Given the description of an element on the screen output the (x, y) to click on. 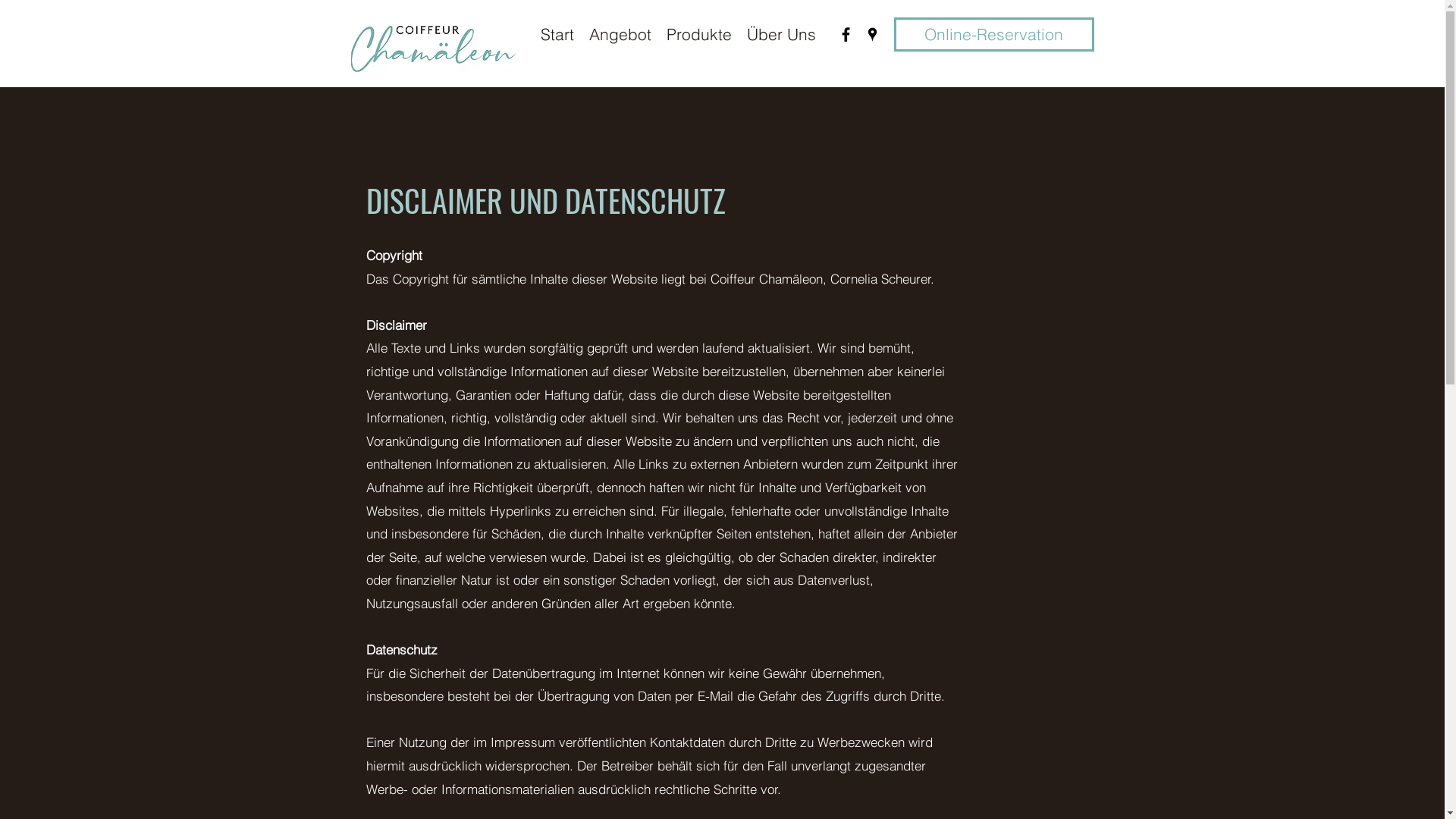
Online-Reservation Element type: text (993, 34)
Start Element type: text (556, 33)
Produkte Element type: text (698, 33)
Angebot Element type: text (619, 33)
